Given the description of an element on the screen output the (x, y) to click on. 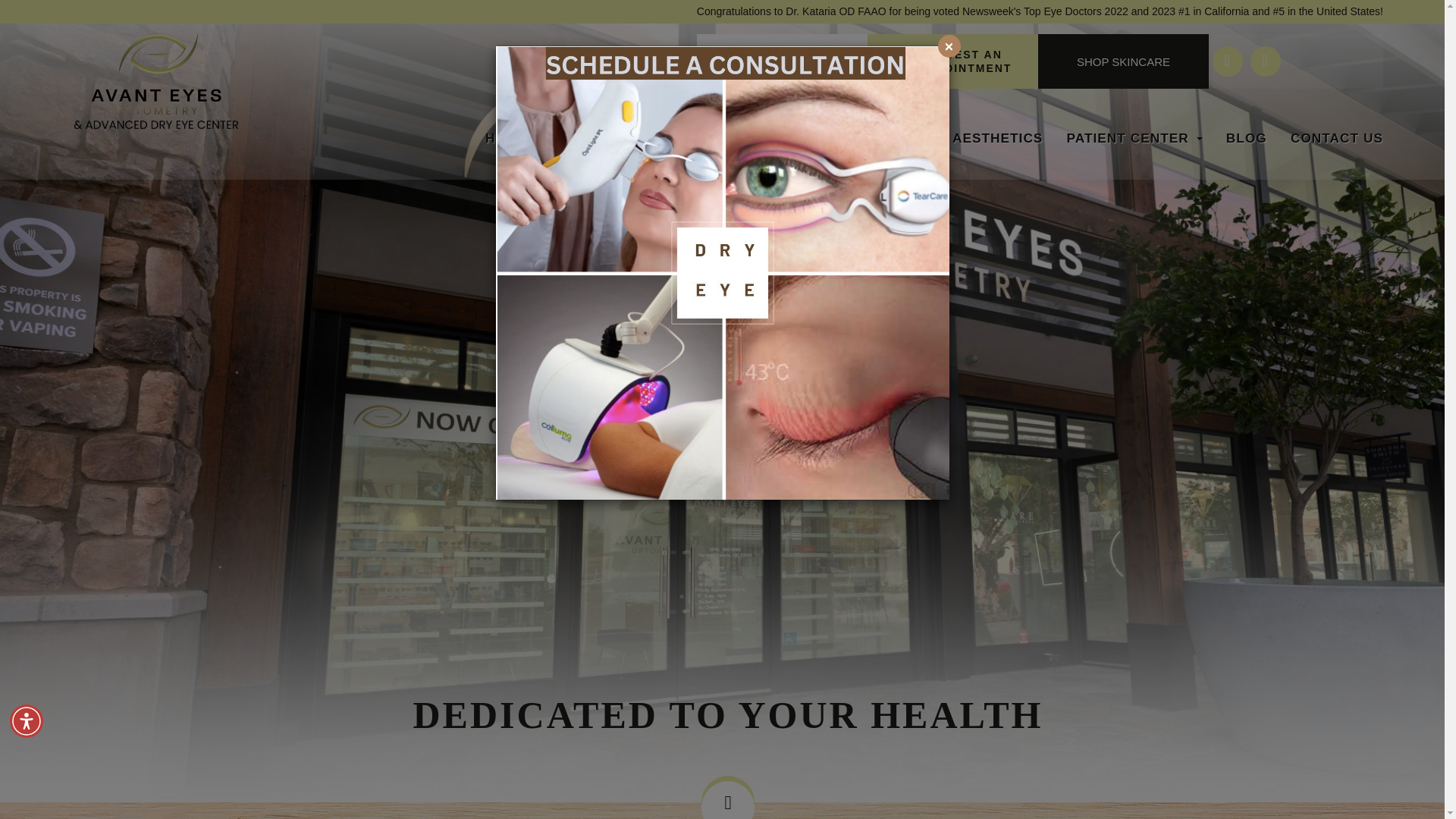
Accessibility Menu (26, 720)
